Given the description of an element on the screen output the (x, y) to click on. 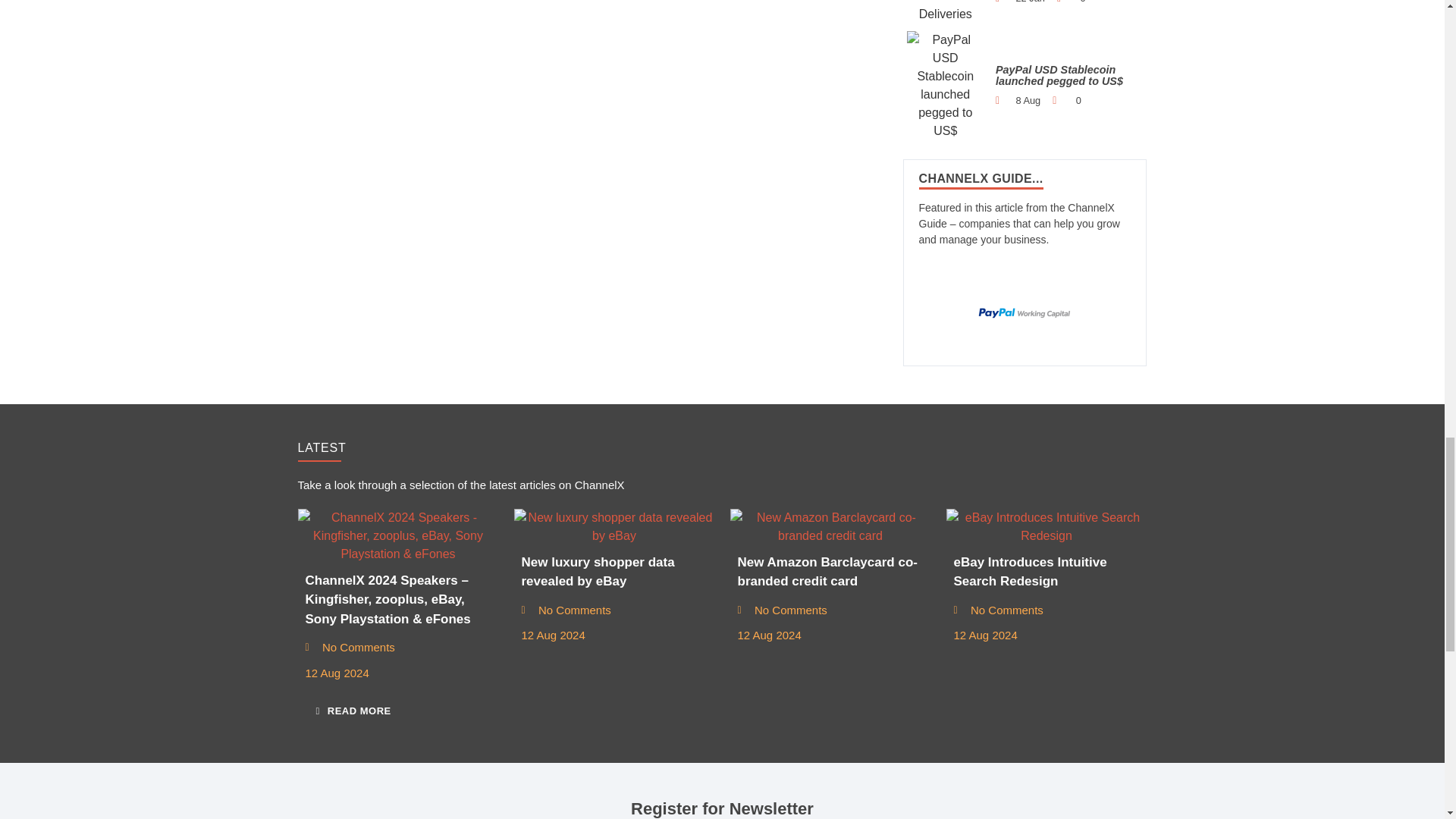
New Amazon Barclaycard co-branded credit card (829, 526)
New luxury shopper data revealed by eBay (613, 526)
eBay Introduces Intuitive Search Redesign (1046, 526)
